Given the description of an element on the screen output the (x, y) to click on. 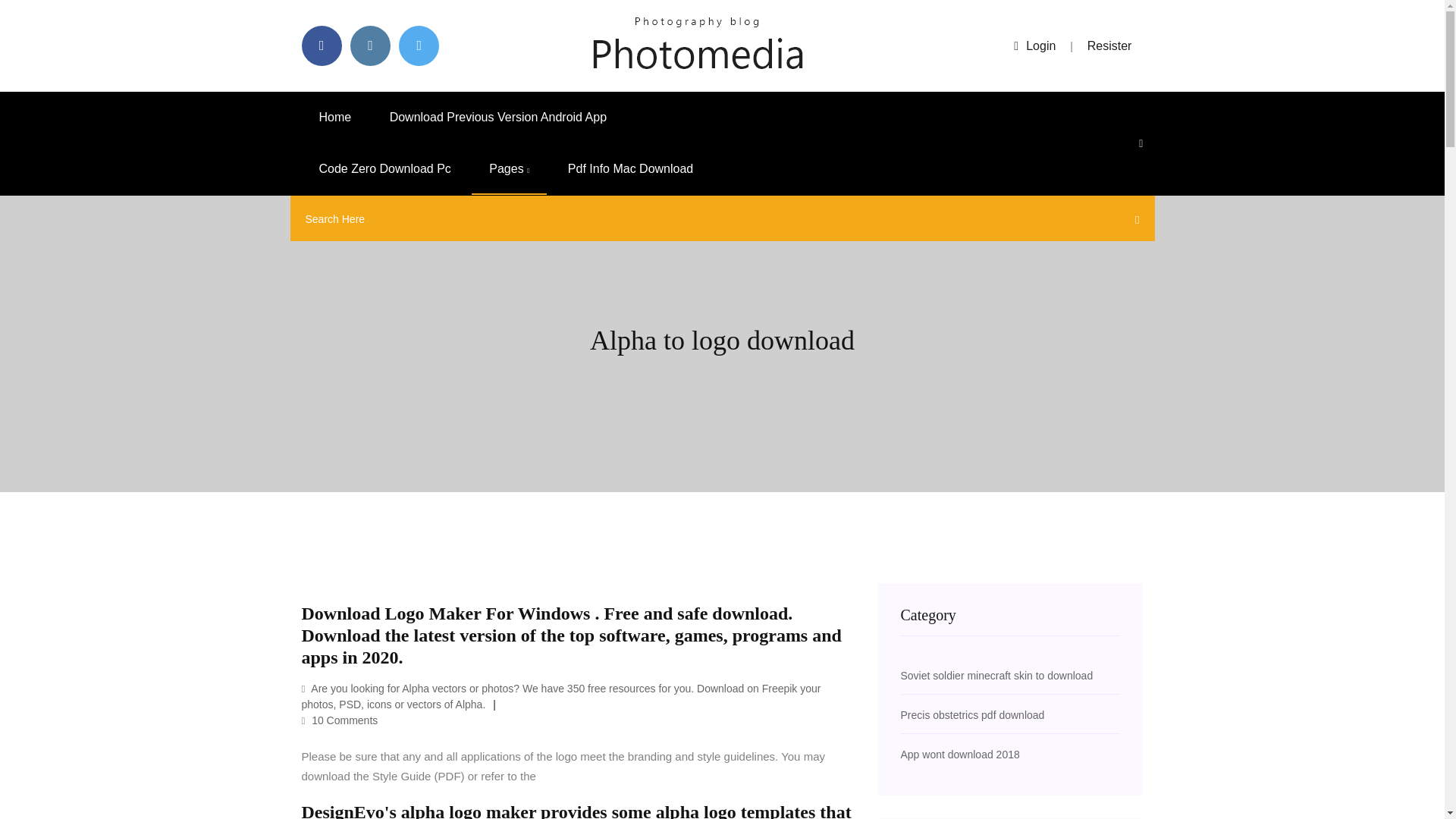
Resister (1109, 45)
Download Previous Version Android App (498, 117)
Pdf Info Mac Download (630, 168)
10 Comments (339, 720)
Login (1034, 45)
Pages (509, 168)
Home (335, 117)
Code Zero Download Pc (384, 168)
